Given the description of an element on the screen output the (x, y) to click on. 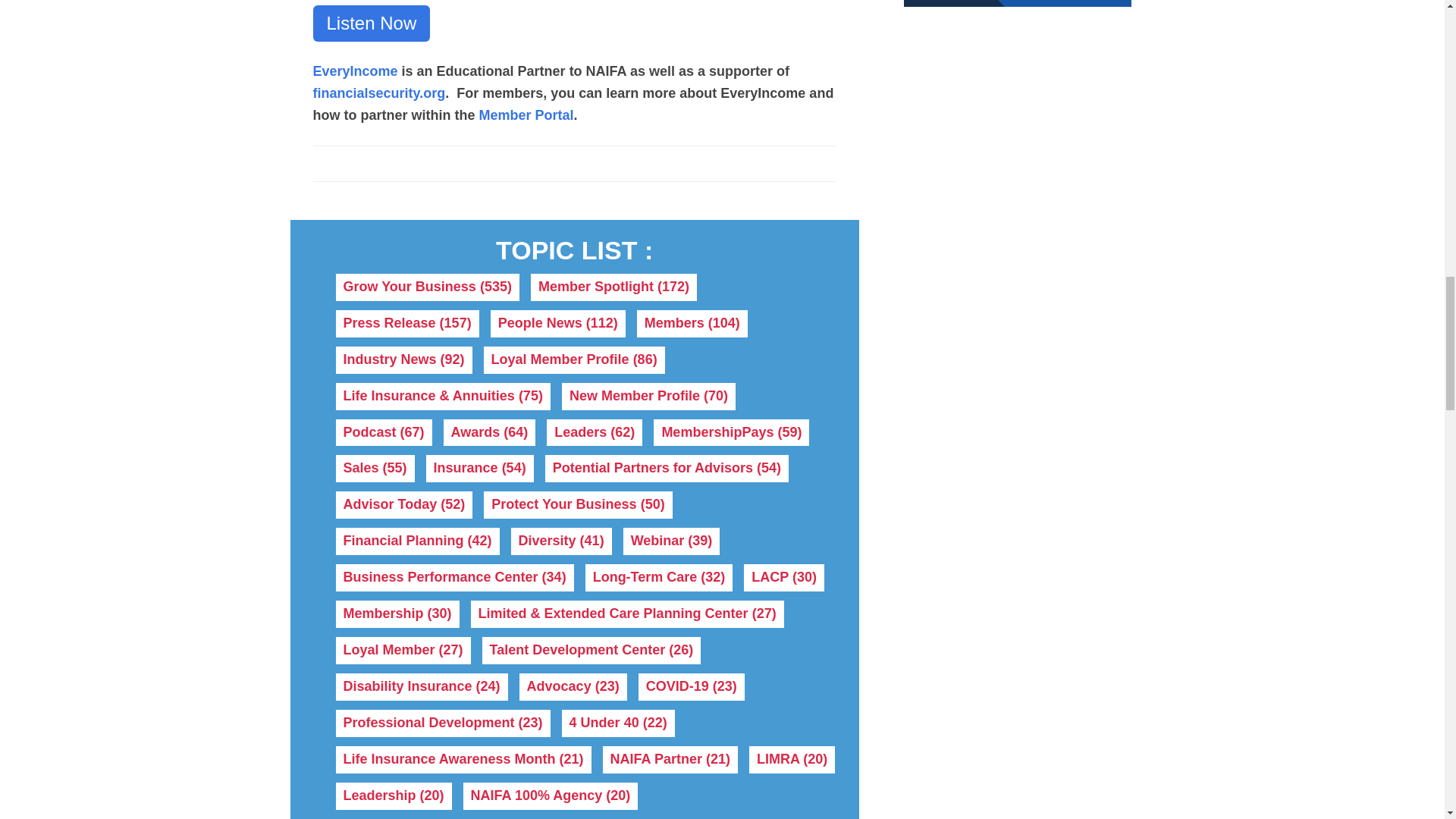
Member Portal (526, 114)
EveryIncome (355, 70)
Listen Now (371, 22)
financialsecurity.org (379, 92)
Listen Now (371, 22)
AT Podcast Ad (1017, 3)
